Given the description of an element on the screen output the (x, y) to click on. 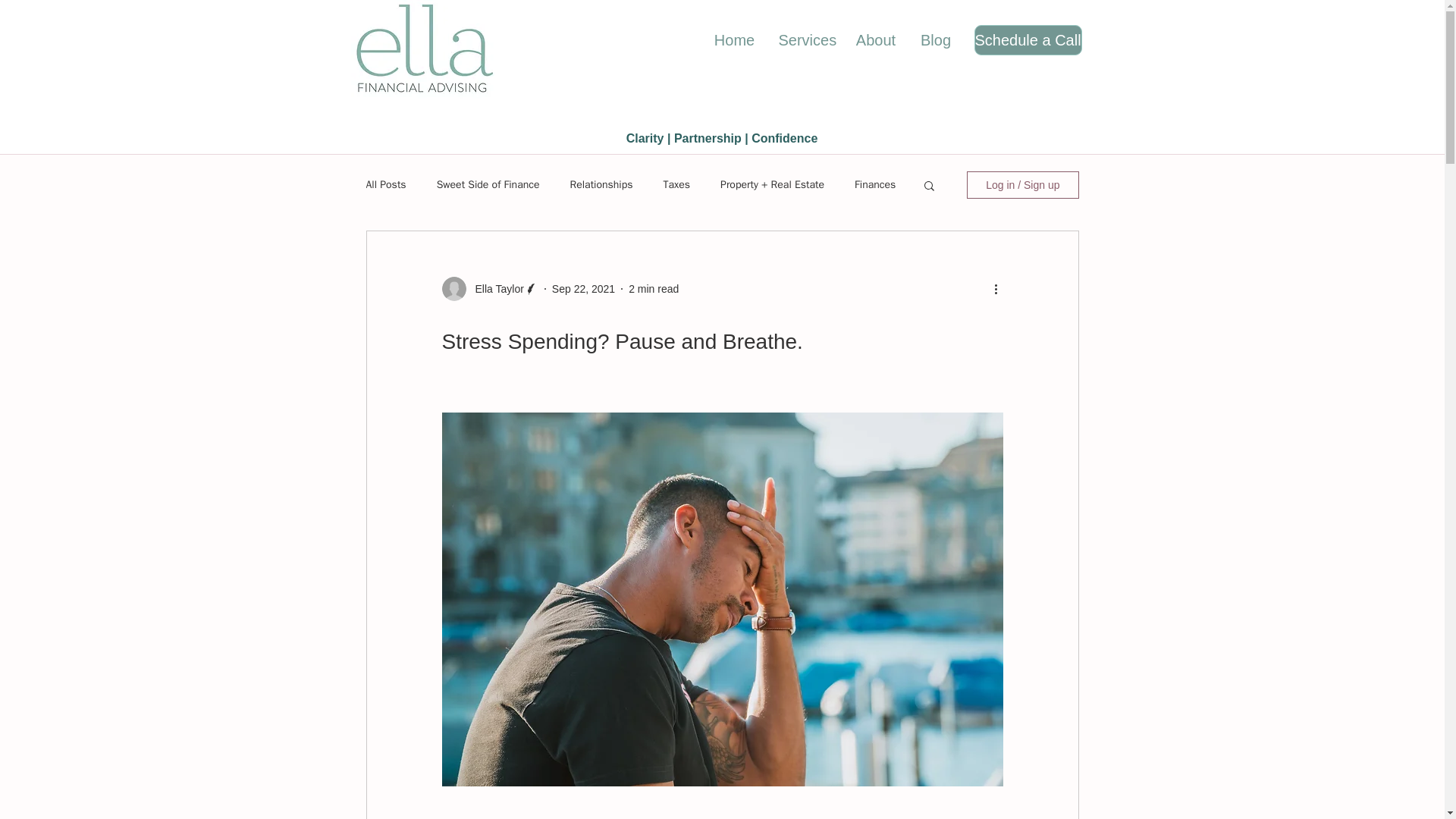
About (875, 40)
Services (805, 40)
Home (734, 40)
Ella Taylor (493, 288)
Taxes (676, 184)
Relationships (601, 184)
Schedule a Call (1027, 40)
2 min read (653, 287)
Blog (935, 40)
Finances (874, 184)
